Given the description of an element on the screen output the (x, y) to click on. 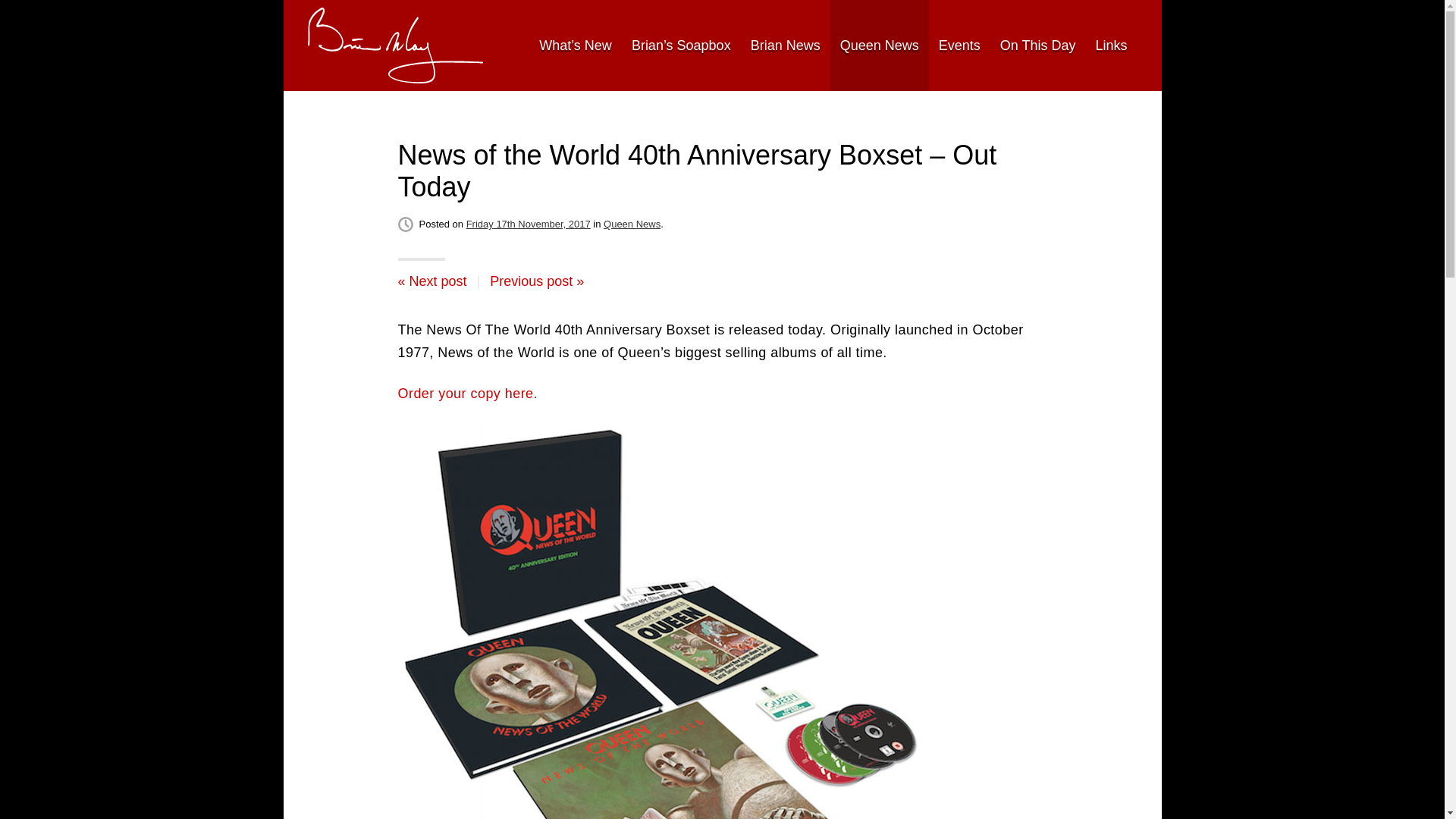
'Somebody To Love' on a busy New York Subway (536, 281)
Queen News (632, 224)
Brian News (785, 45)
Friday 17th November, 2017 (528, 224)
Order your copy here. (467, 393)
brianmay.com (395, 45)
Queen News (878, 45)
On This Day (1038, 45)
Skip to content (326, 45)
